Given the description of an element on the screen output the (x, y) to click on. 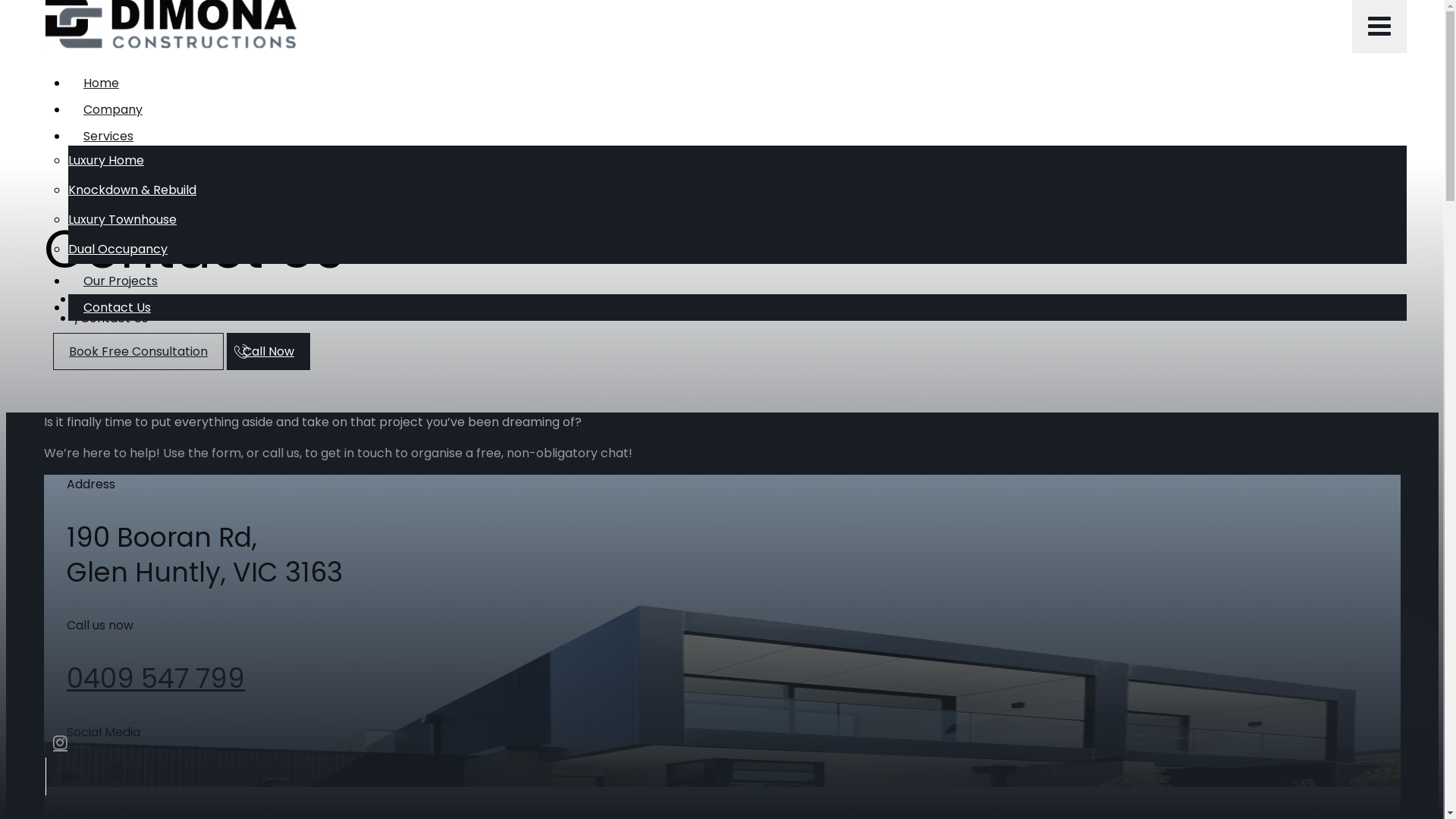
0409 547 799 Element type: text (155, 678)
Company Element type: text (112, 109)
Follow Us On Instagram Element type: hover (115, 770)
Our Projects Element type: text (120, 280)
Home Element type: text (101, 82)
Knockdown & Rebuild Element type: text (132, 189)
Home Element type: text (91, 298)
Services Element type: text (108, 135)
Skip to content Element type: text (51, 15)
Call Now Element type: text (268, 351)
Luxury Home Element type: text (106, 159)
Contact Us Element type: text (117, 307)
Follow Us On Instagram Element type: hover (60, 742)
Luxury Townhouse Element type: text (122, 219)
Book Free Consultation Element type: text (138, 351)
Dual Occupancy Element type: text (117, 248)
